Given the description of an element on the screen output the (x, y) to click on. 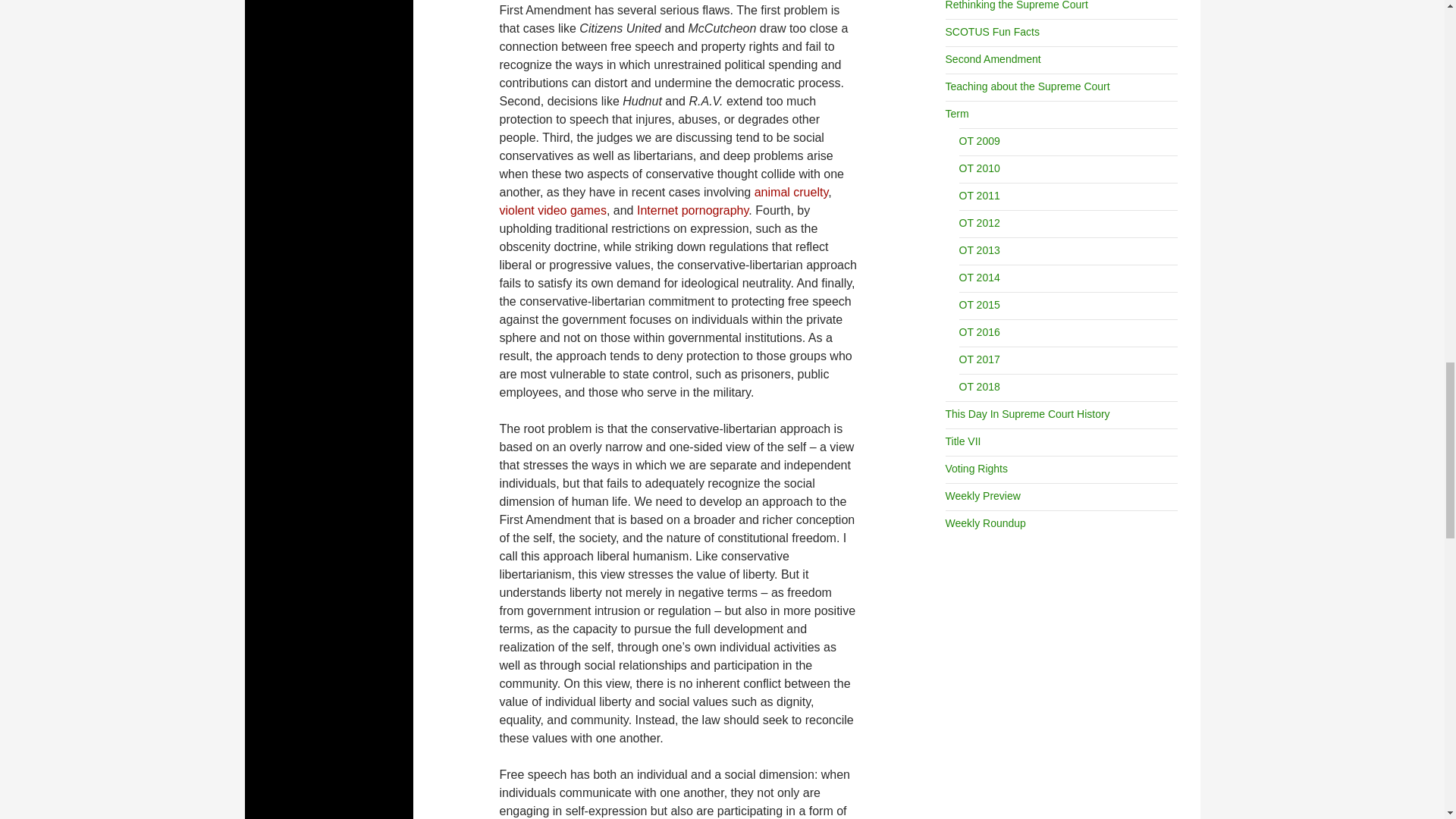
violent video games (552, 210)
animal cruelty (791, 192)
Internet pornography (692, 210)
